Given the description of an element on the screen output the (x, y) to click on. 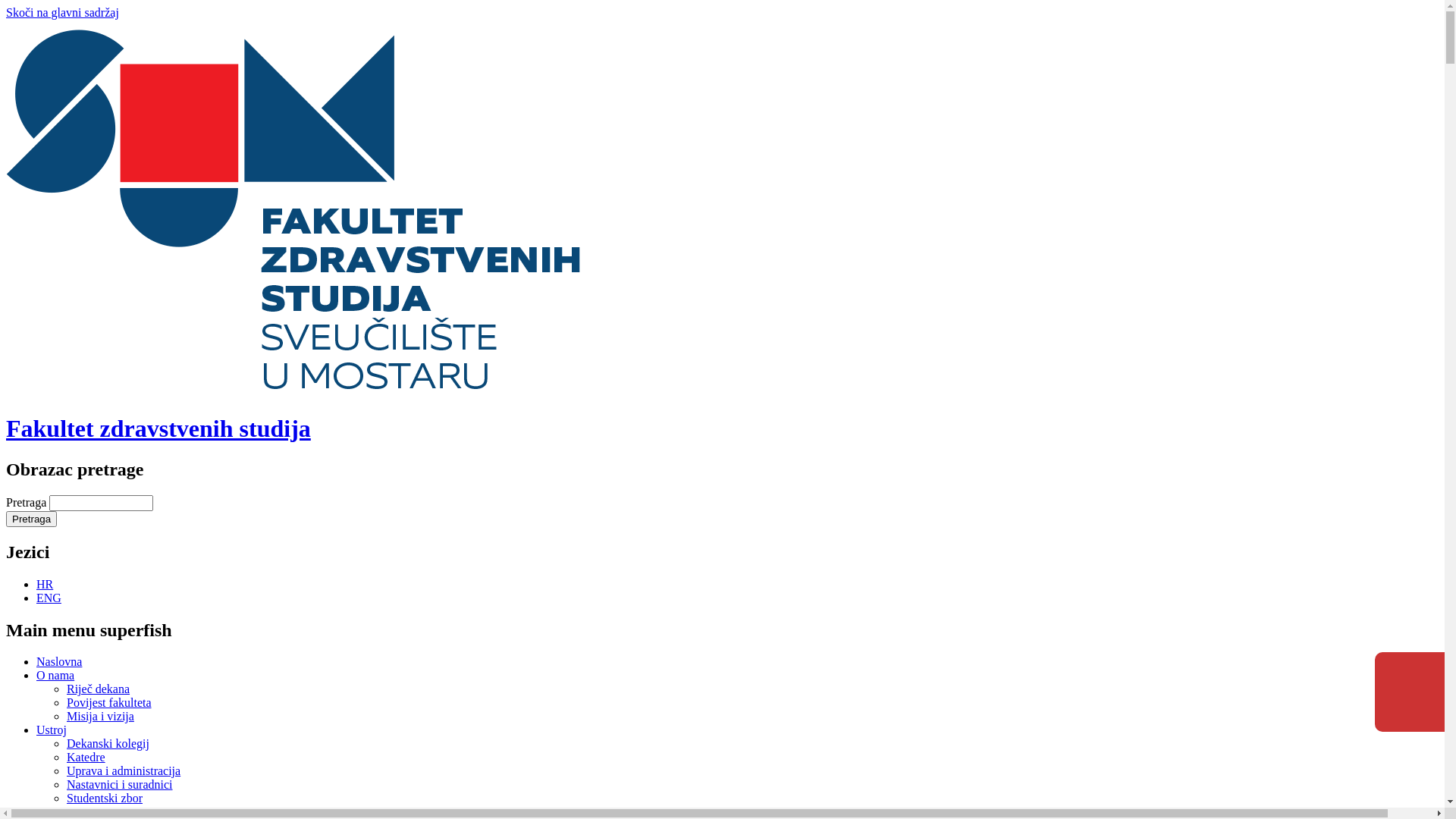
HR Element type: text (44, 583)
O nama Element type: text (55, 674)
Misija i vizija Element type: text (100, 715)
Povijest fakulteta Element type: text (108, 702)
Ustroj Element type: text (51, 729)
Uprava i administracija Element type: text (123, 770)
Fakultet zdravstvenih studija Element type: text (158, 428)
Katedre Element type: text (85, 756)
ENG Element type: text (48, 597)
Studentski zbor Element type: text (104, 797)
Propisi Element type: text (53, 811)
Pretraga Element type: text (31, 519)
Nastavnici i suradnici Element type: text (119, 784)
Naslovna Element type: text (58, 661)
Dekanski kolegij Element type: text (107, 743)
